Given the description of an element on the screen output the (x, y) to click on. 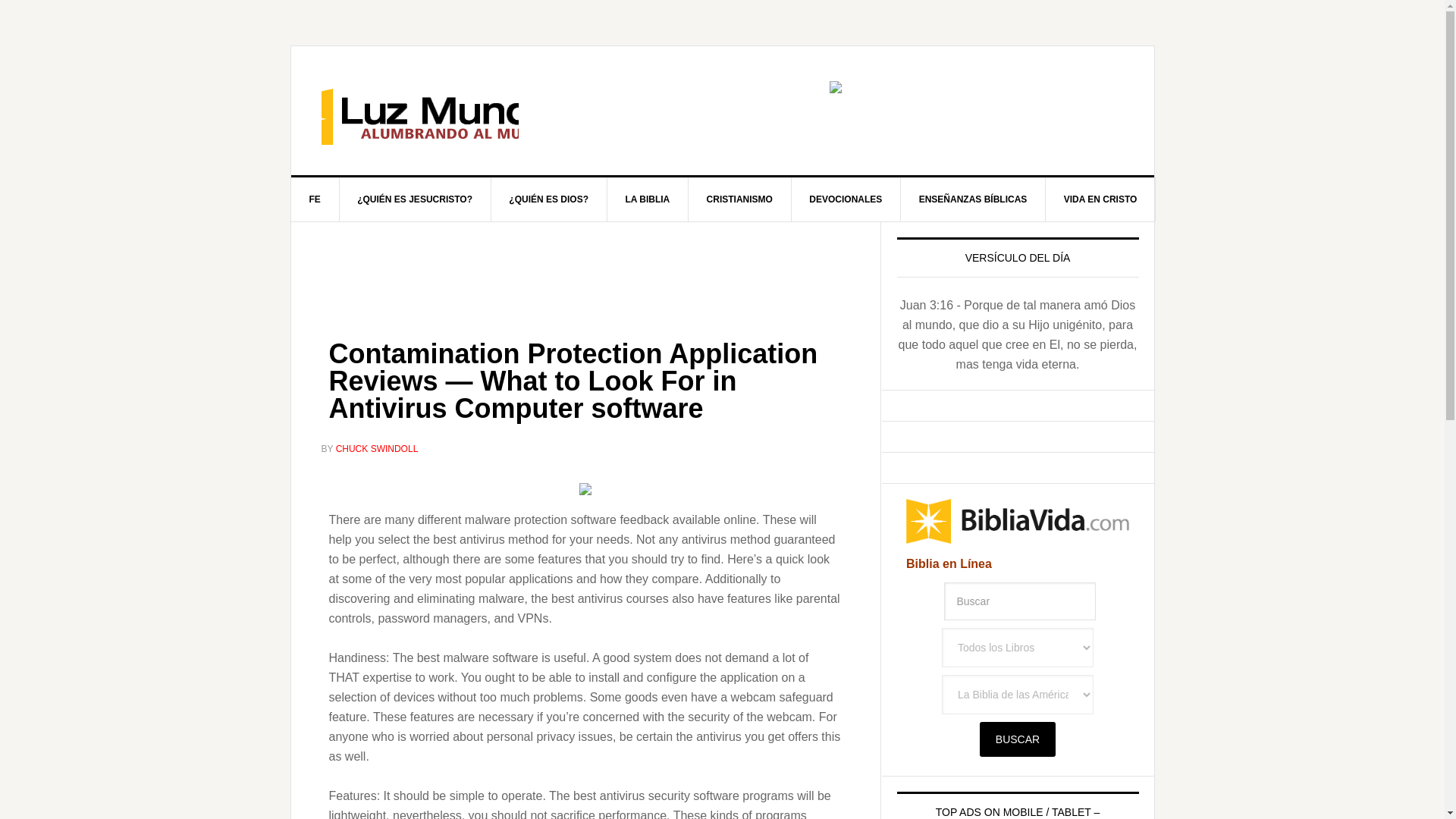
Buscar (1017, 738)
LA BIBLIA (647, 199)
LUZ MUNDIAL (419, 110)
CRISTIANISMO (740, 199)
Buscar (1018, 600)
FE (315, 199)
